Given the description of an element on the screen output the (x, y) to click on. 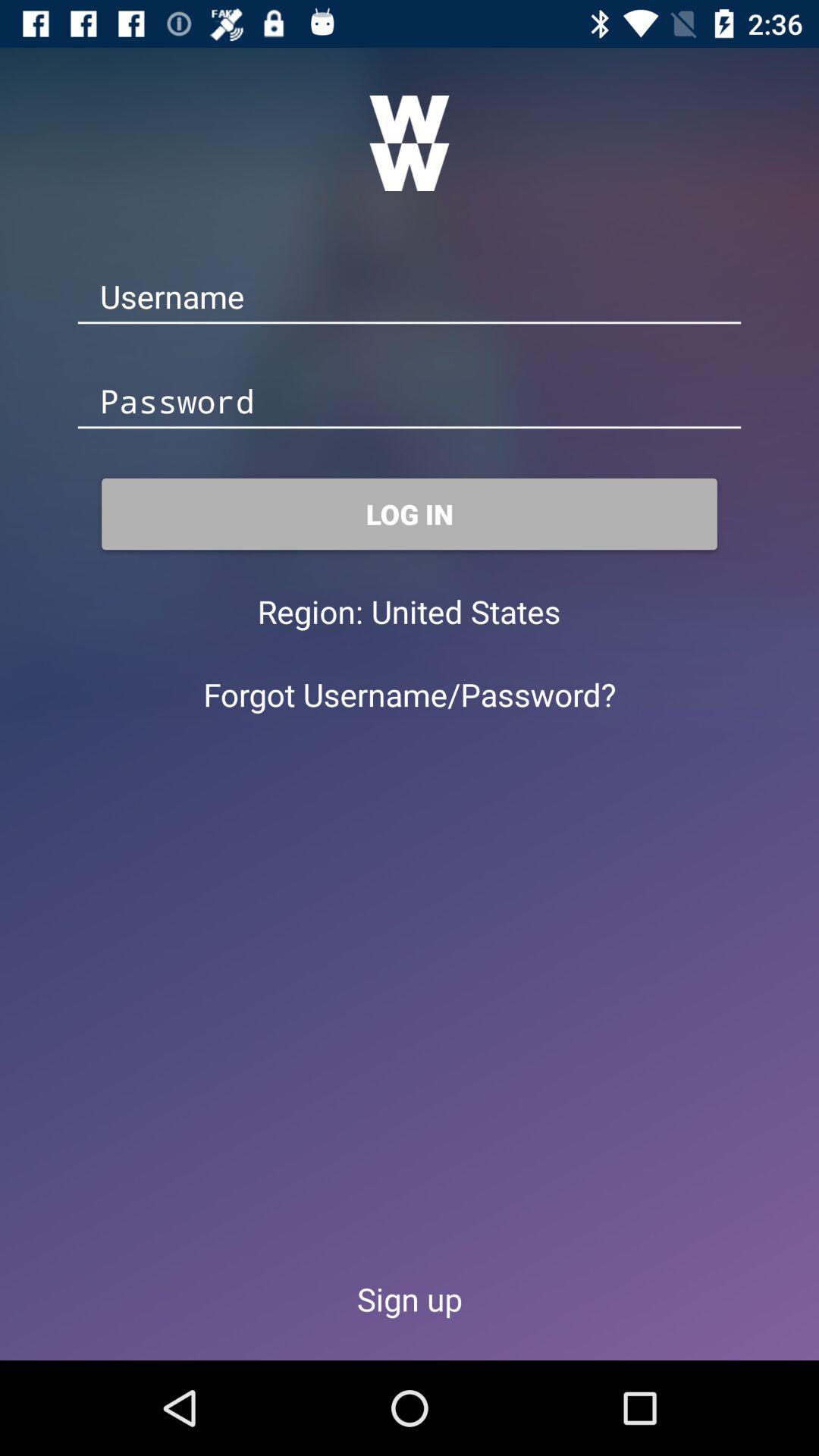
choose the item above region:  item (409, 513)
